Given the description of an element on the screen output the (x, y) to click on. 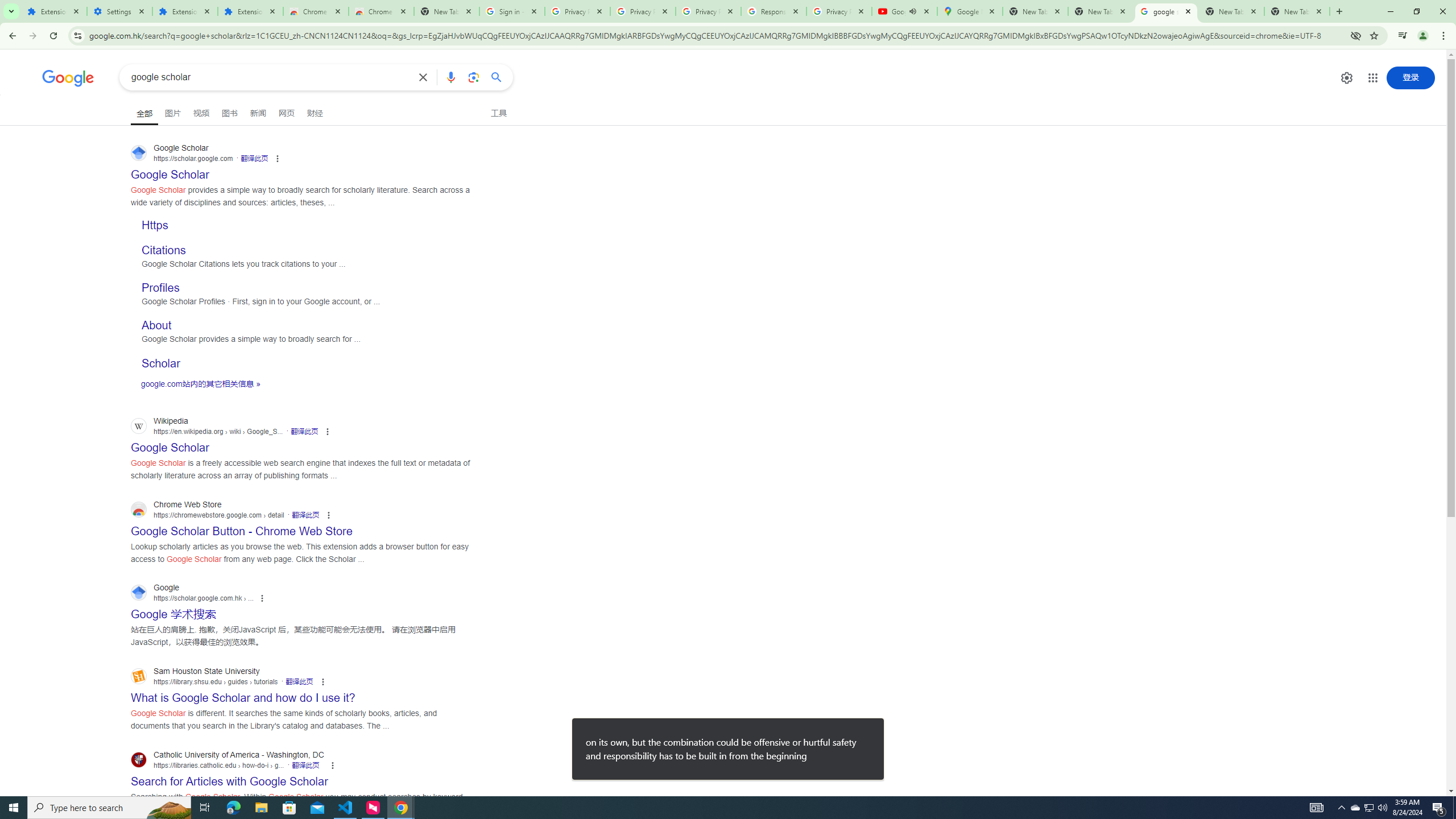
 Google Scholar Google Scholar https://scholar.google.com (170, 171)
Extensions (184, 11)
About (156, 325)
New Tab (446, 11)
Chrome Web Store (315, 11)
